Given the description of an element on the screen output the (x, y) to click on. 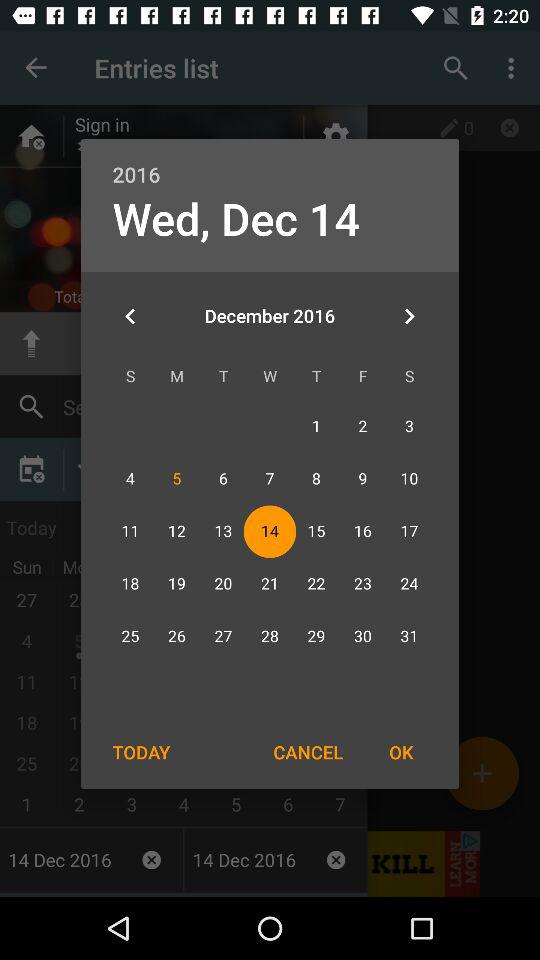
choose cancel (308, 751)
